Given the description of an element on the screen output the (x, y) to click on. 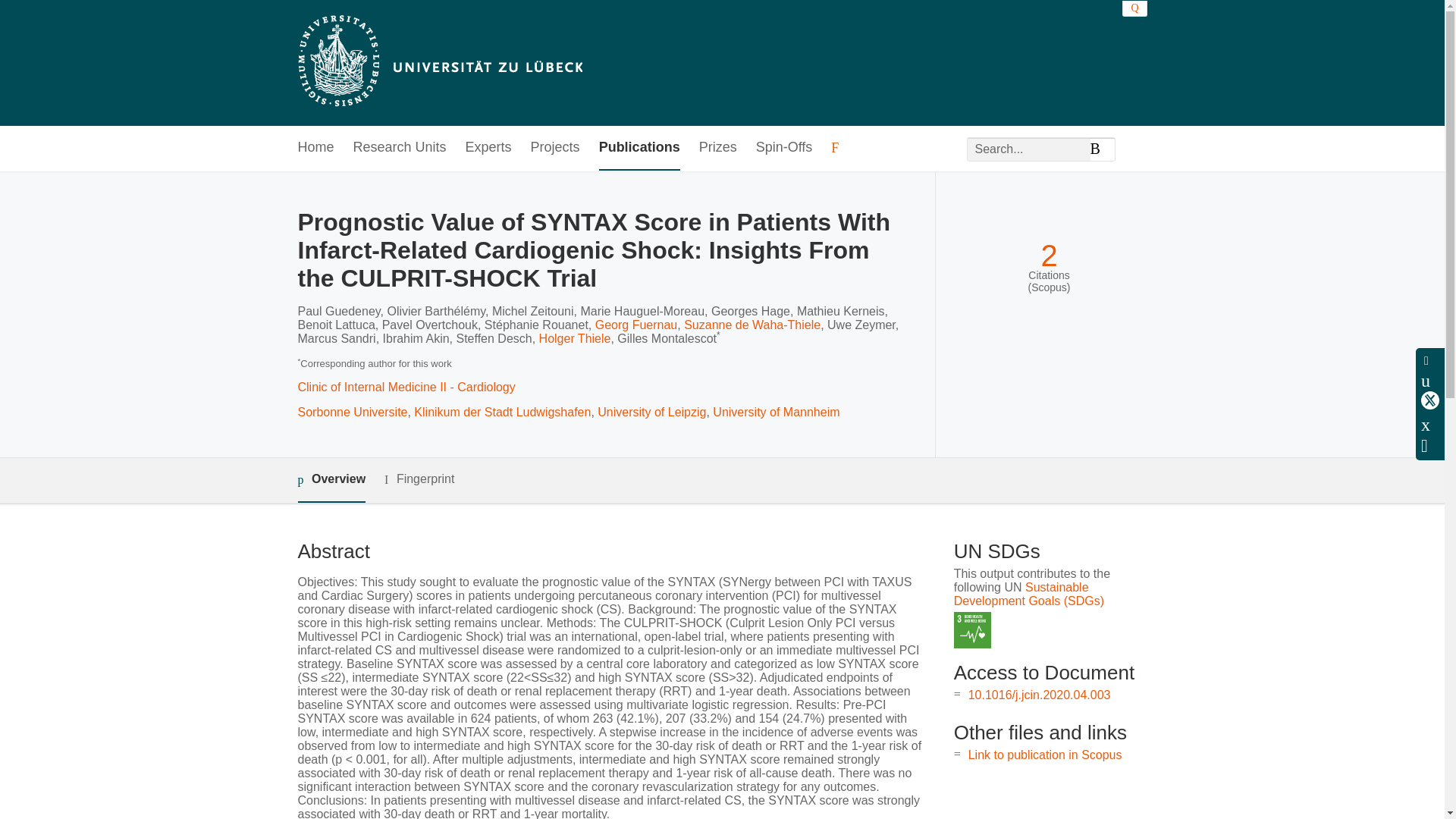
Experts (488, 148)
University of Luebeck Home (438, 62)
Spin-Offs (783, 148)
Clinic of Internal Medicine II - Cardiology (406, 386)
University of Leipzig (651, 411)
Suzanne de Waha-Thiele (752, 324)
SDG 3 - Good Health and Well-being (972, 630)
Sorbonne Universite (352, 411)
Fingerprint (419, 479)
